Given the description of an element on the screen output the (x, y) to click on. 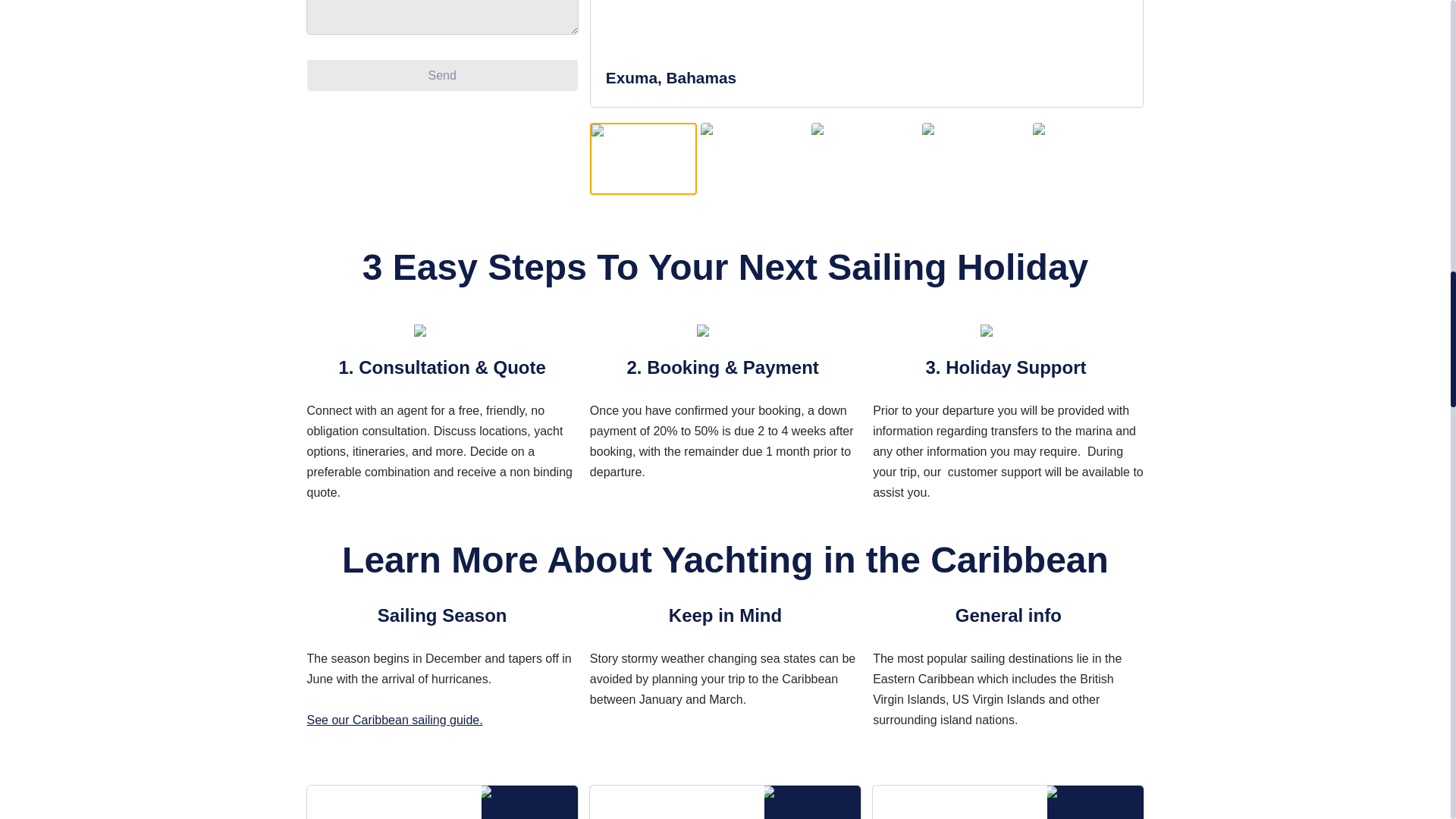
Exotic winter holidays on board (1007, 802)
What inhabits the Caribbean coral reefs? (440, 802)
Send (440, 74)
See our Caribbean sailing guide. (393, 719)
Send (440, 74)
